Given the description of an element on the screen output the (x, y) to click on. 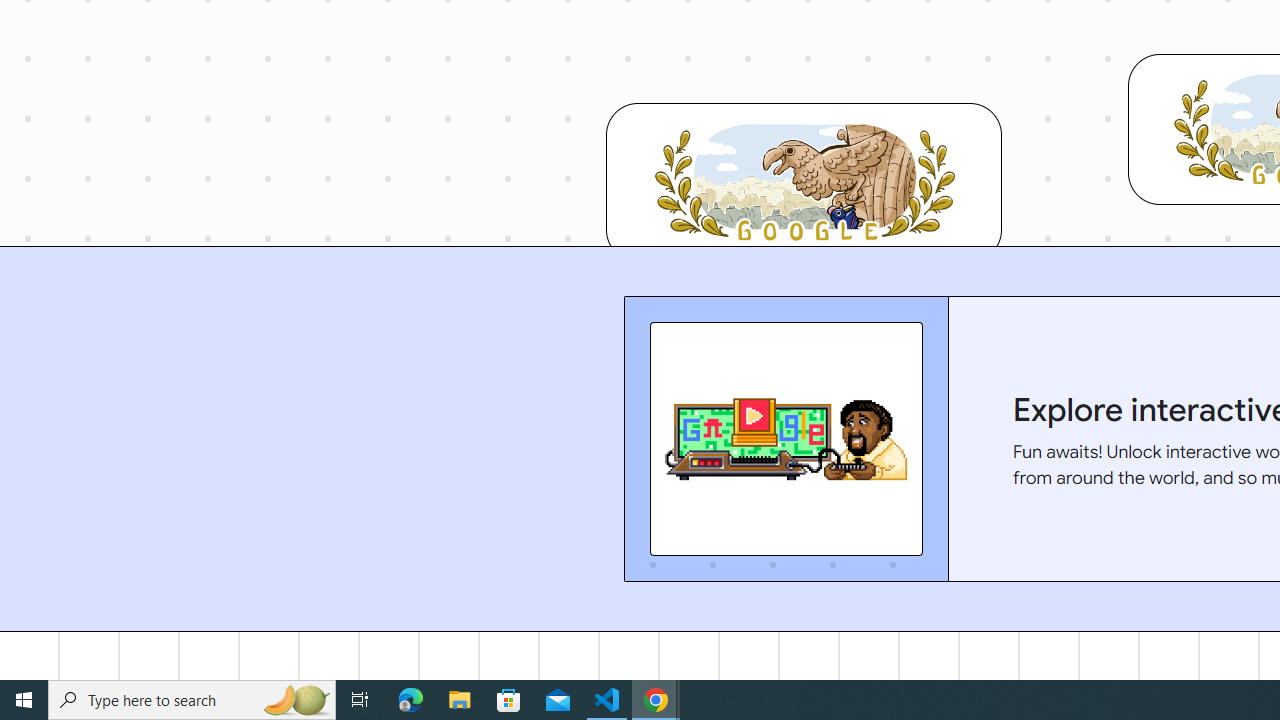
Previous slide (623, 439)
